Given the description of an element on the screen output the (x, y) to click on. 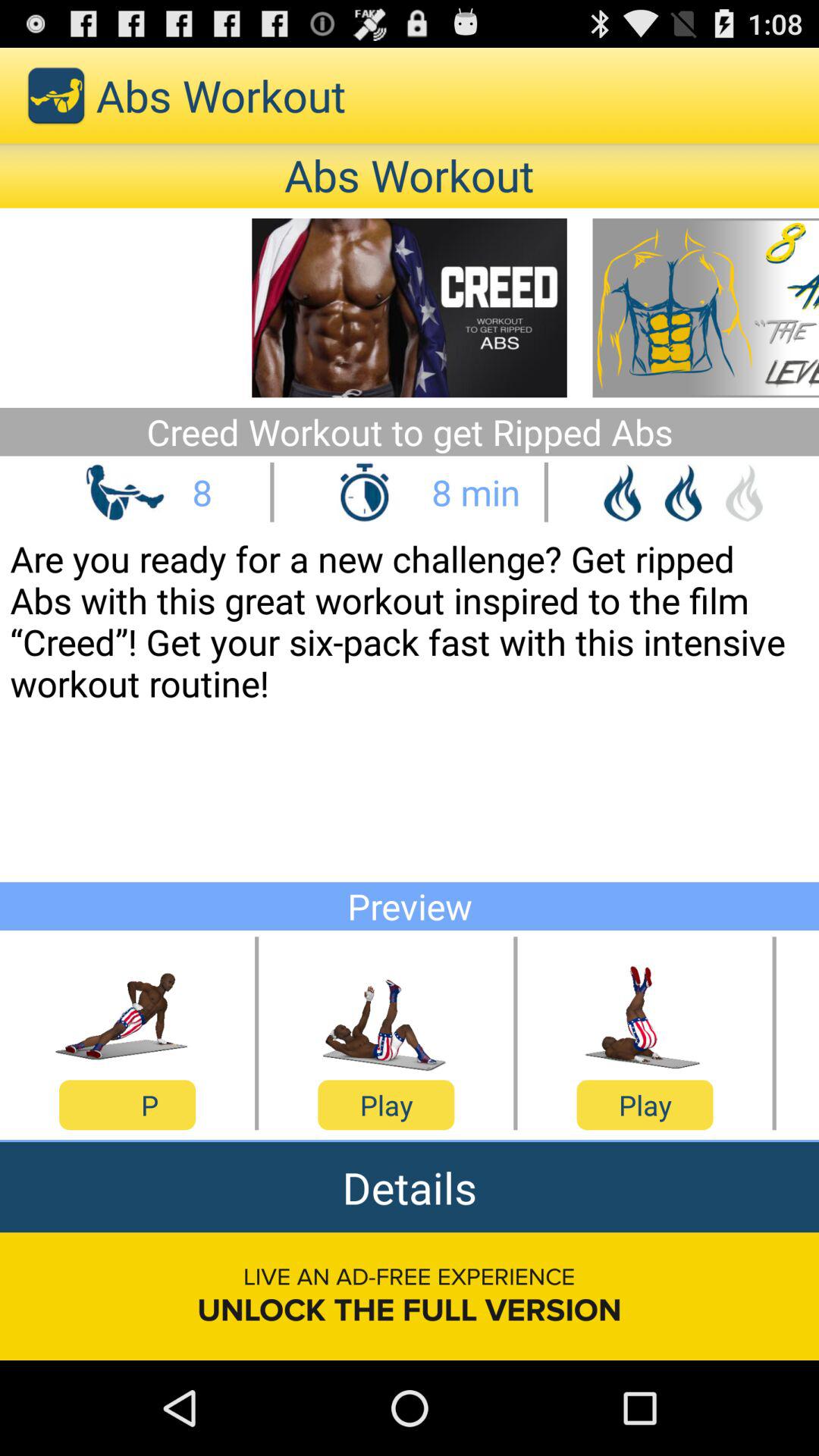
open details (409, 1187)
